Given the description of an element on the screen output the (x, y) to click on. 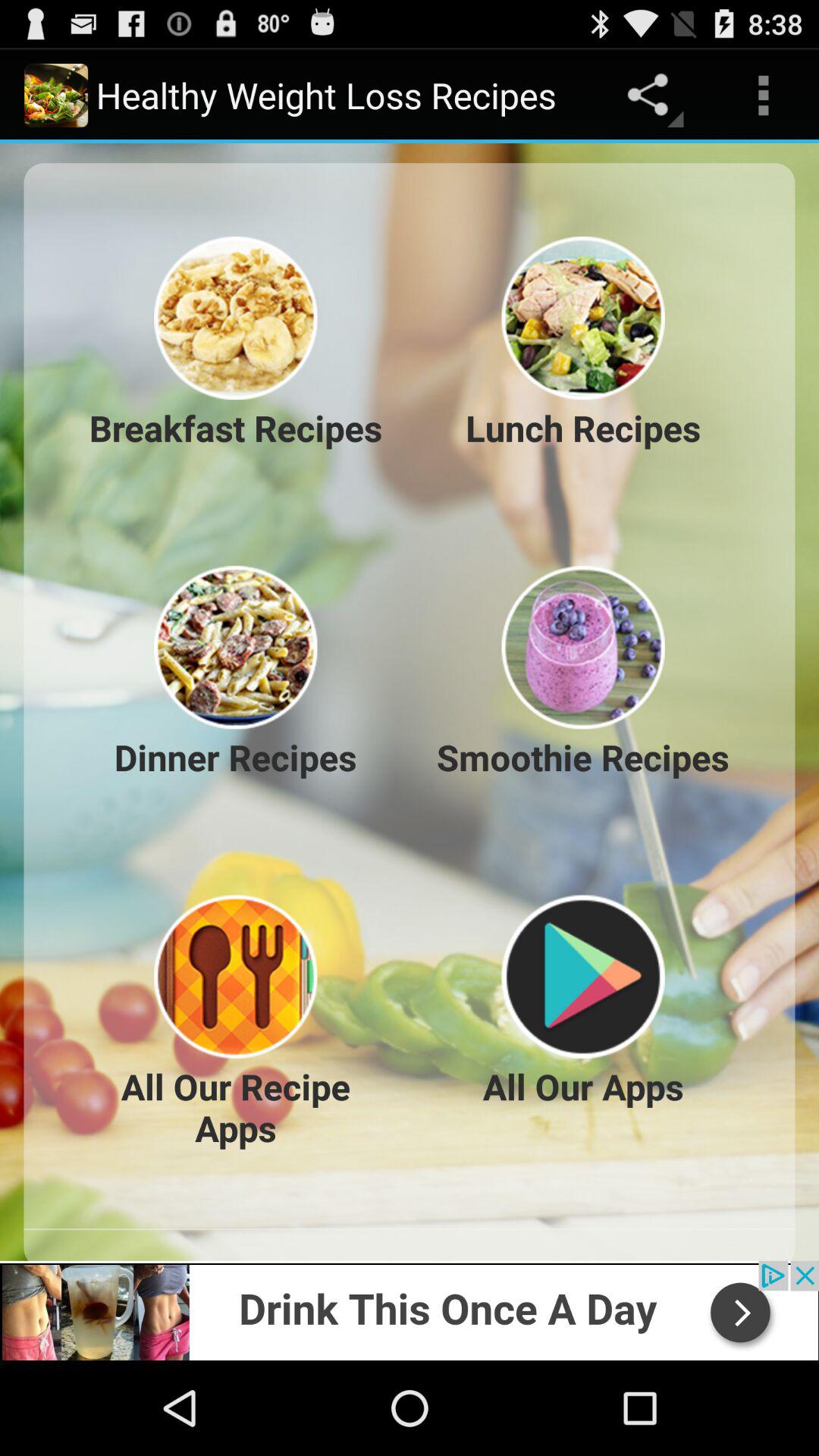
advertisement (409, 1310)
